Given the description of an element on the screen output the (x, y) to click on. 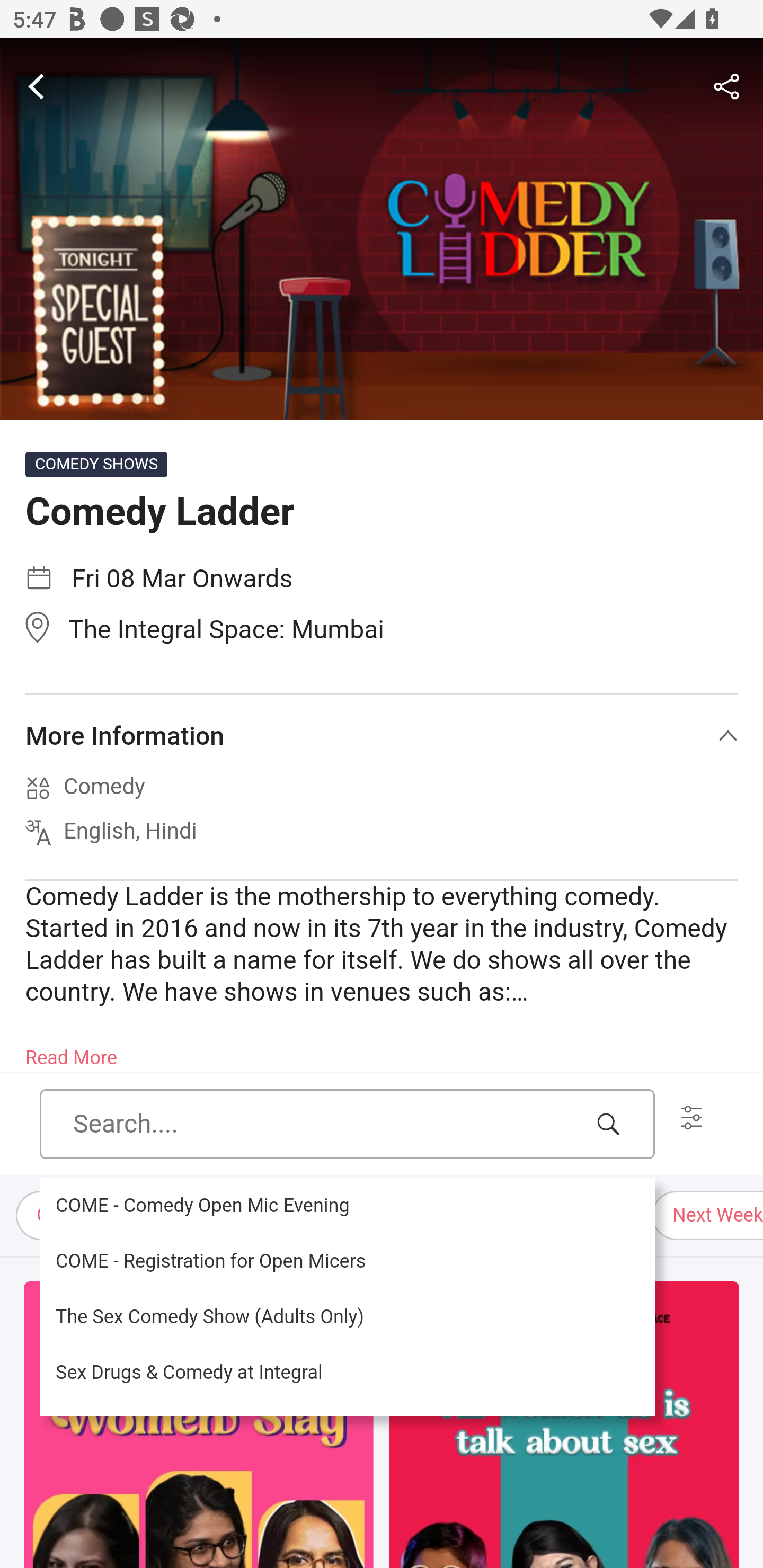
More Information (381, 735)
Read More (71, 1051)
COME - Comedy Open Mic Evening (346, 1206)
COME - Registration for Open Micers (346, 1261)
The Sex Comedy Show (Adults Only) (346, 1316)
Sex Drugs & Comedy at Integral (346, 1372)
